Given the description of an element on the screen output the (x, y) to click on. 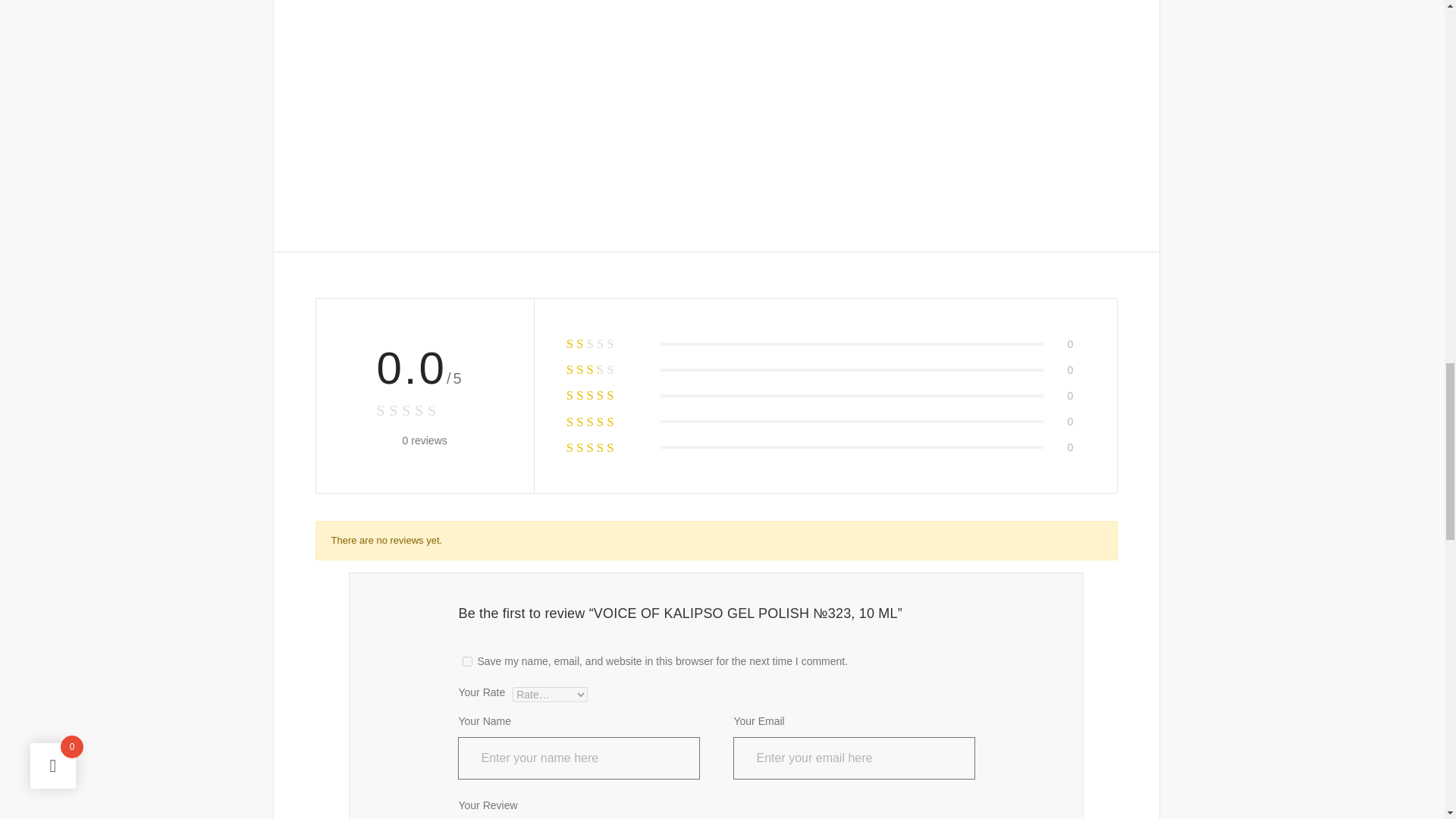
Rated 4 out of 5 (605, 421)
Rated 0.0 out of 5 (423, 410)
Rated 3 out of 5 (605, 394)
Rated 5 out of 5 (605, 447)
yes (467, 661)
